Given the description of an element on the screen output the (x, y) to click on. 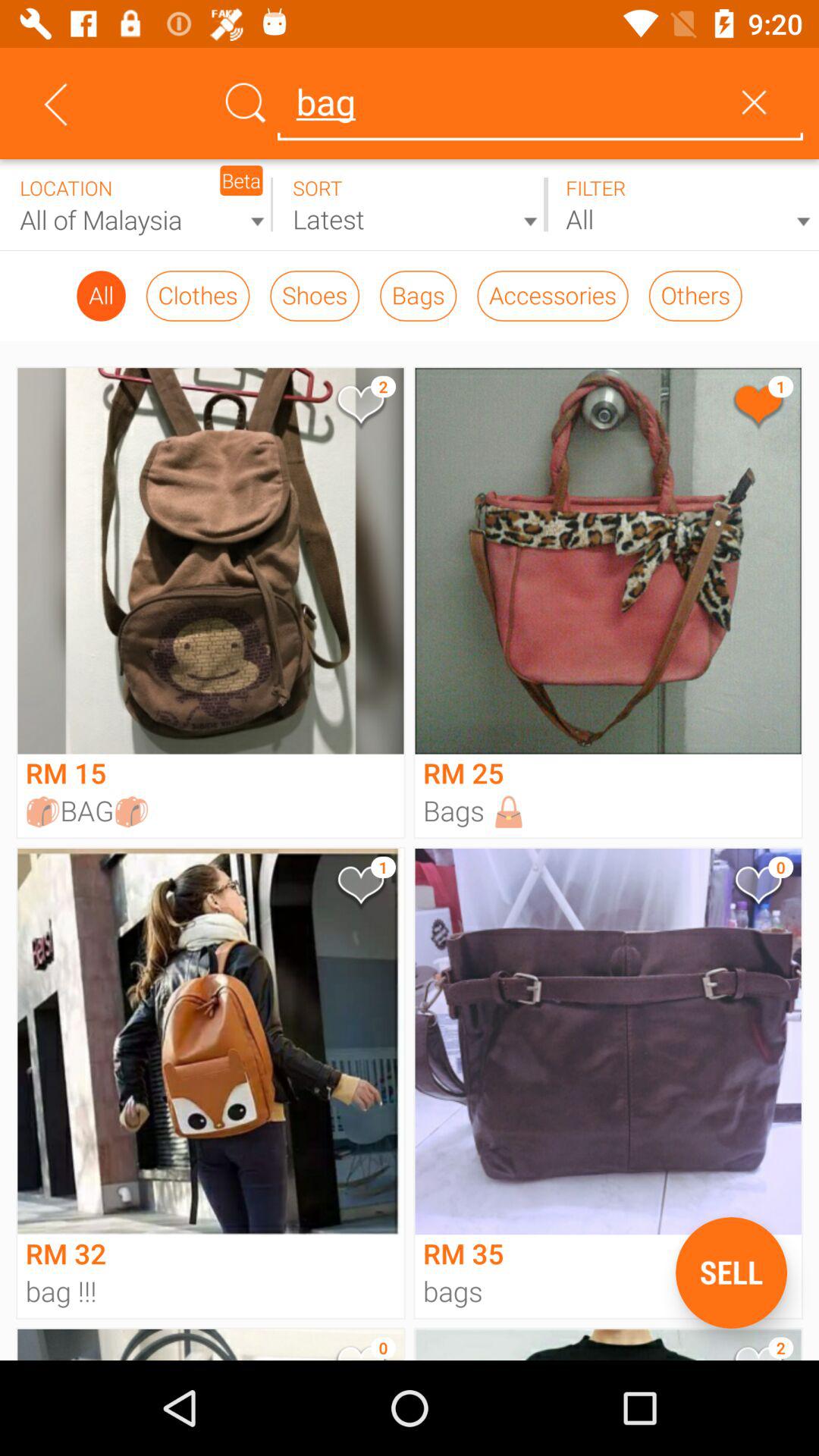
favorite this item (359, 407)
